Given the description of an element on the screen output the (x, y) to click on. 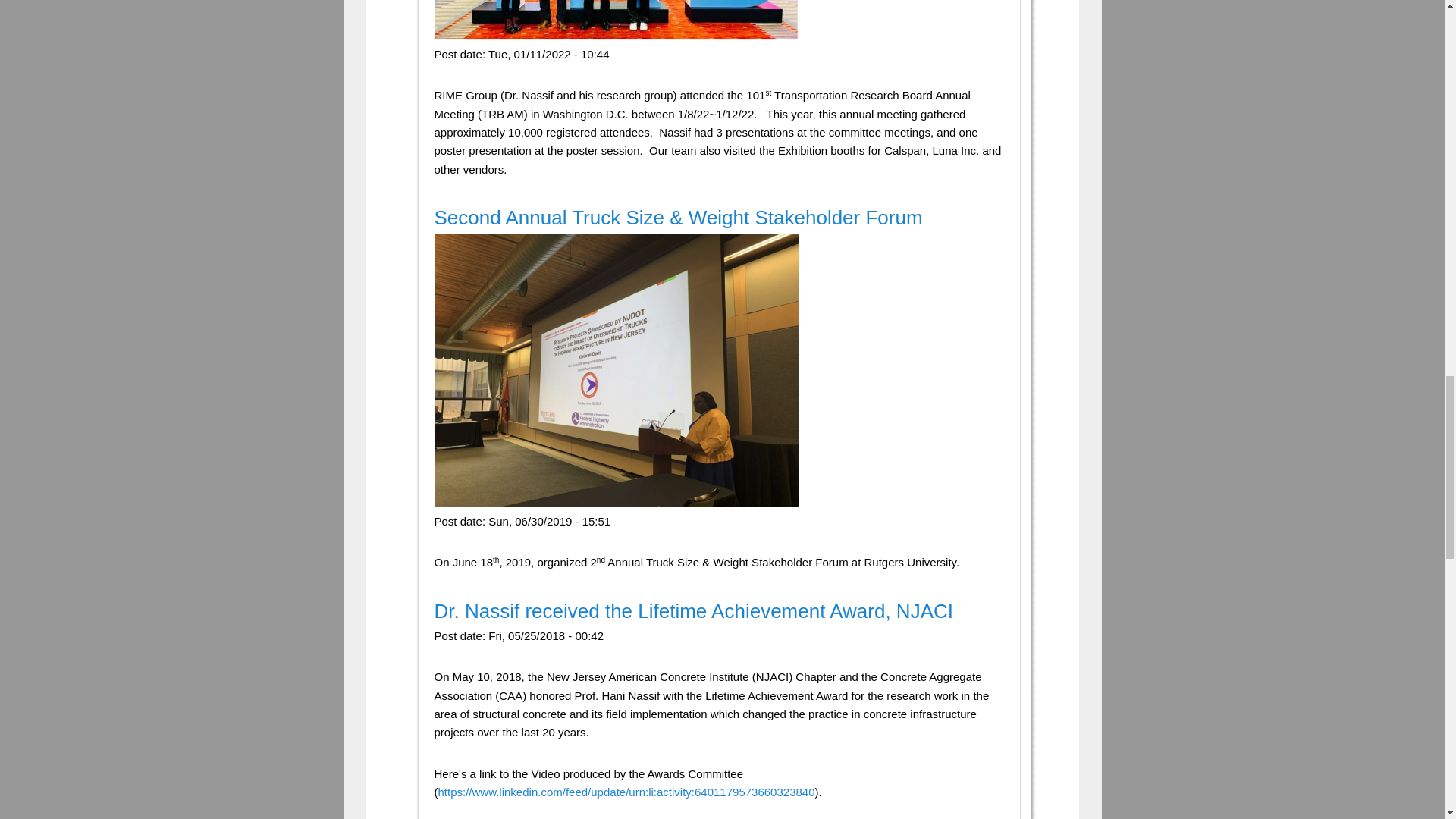
Dr. Nassif received the Lifetime Achievement Award, NJACI (692, 610)
